Given the description of an element on the screen output the (x, y) to click on. 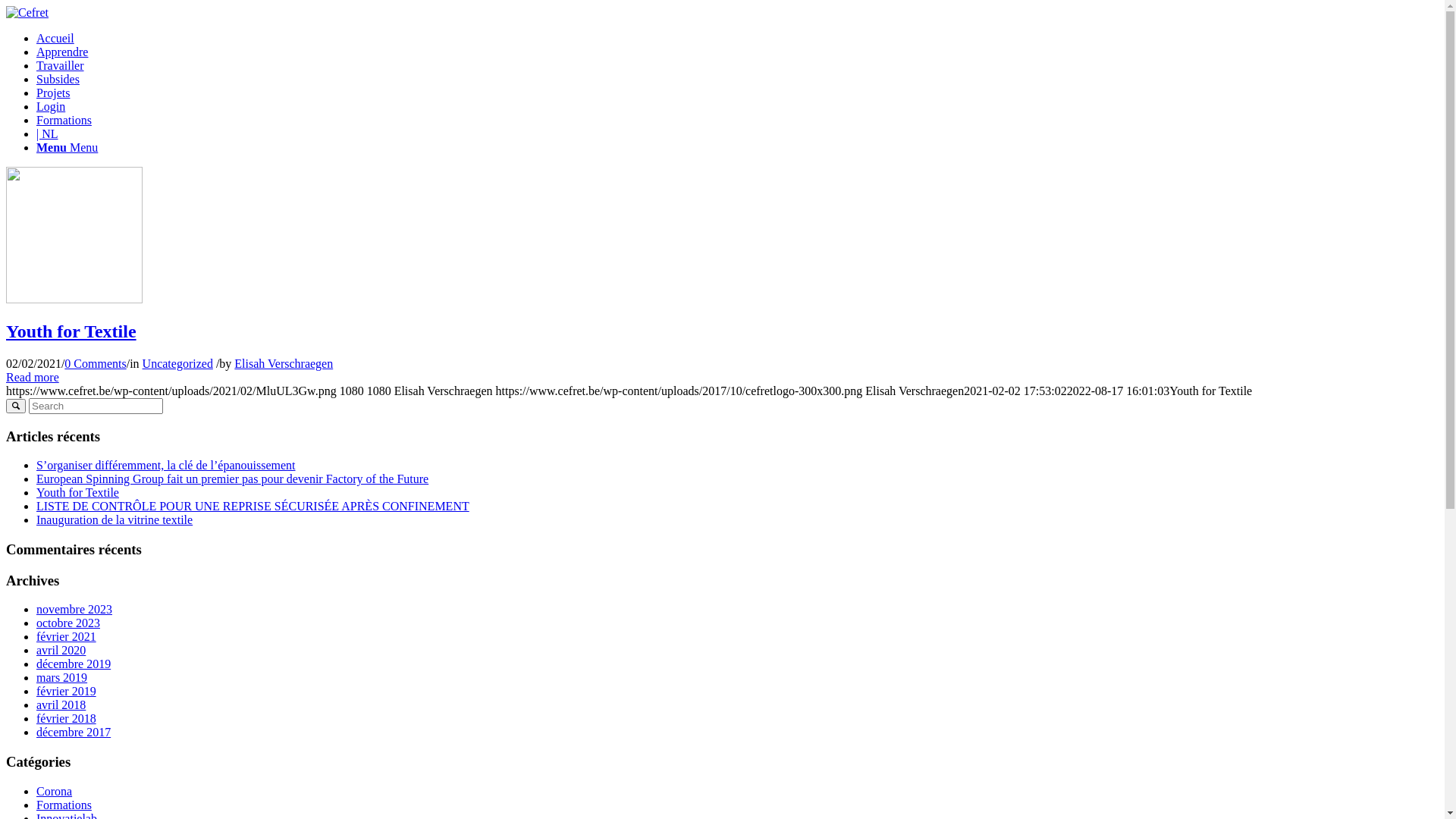
avril 2018 Element type: text (60, 704)
octobre 2023 Element type: text (68, 622)
Subsides Element type: text (57, 78)
Travailler Element type: text (60, 65)
Apprendre Element type: text (61, 51)
Formations Element type: text (63, 804)
Projets Element type: text (52, 92)
Accueil Element type: text (55, 37)
novembre 2023 Element type: text (74, 608)
Formations Element type: text (63, 119)
mars 2019 Element type: text (61, 677)
Inauguration de la vitrine textile Element type: text (114, 519)
Elisah Verschraegen Element type: text (283, 363)
Uncategorized Element type: text (177, 363)
Youth for Textile Element type: text (77, 492)
Corona Element type: text (54, 790)
Menu Menu Element type: text (66, 147)
avril 2020 Element type: text (60, 649)
| NL Element type: text (47, 133)
Youth for Textile Element type: text (71, 331)
Login Element type: text (50, 106)
Read more Element type: text (32, 376)
MluUL3Gw Element type: hover (74, 298)
0 Comments Element type: text (94, 363)
